Given the description of an element on the screen output the (x, y) to click on. 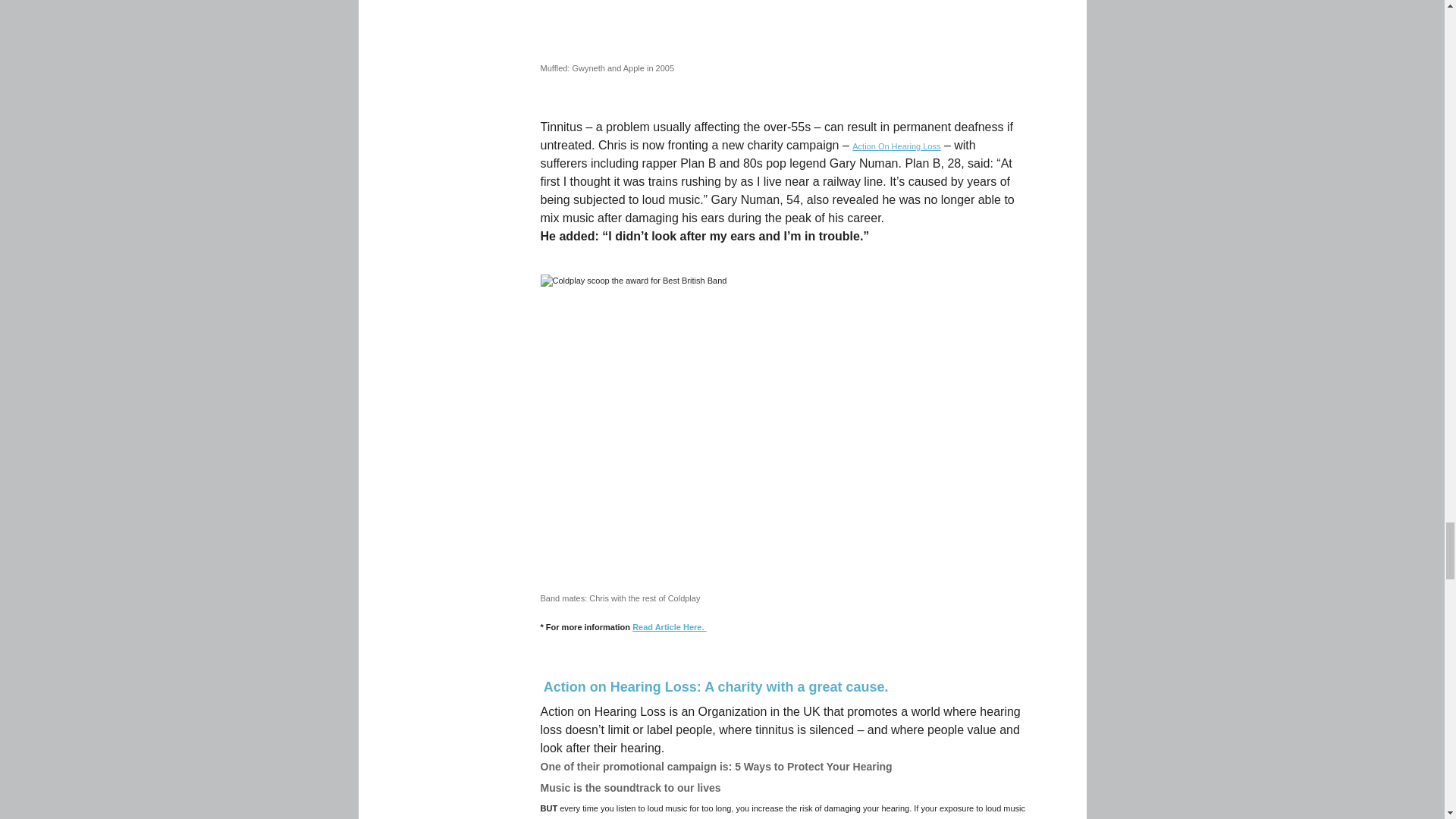
Muffled: Gwyneth and Apple in 2005 (773, 27)
